Given the description of an element on the screen output the (x, y) to click on. 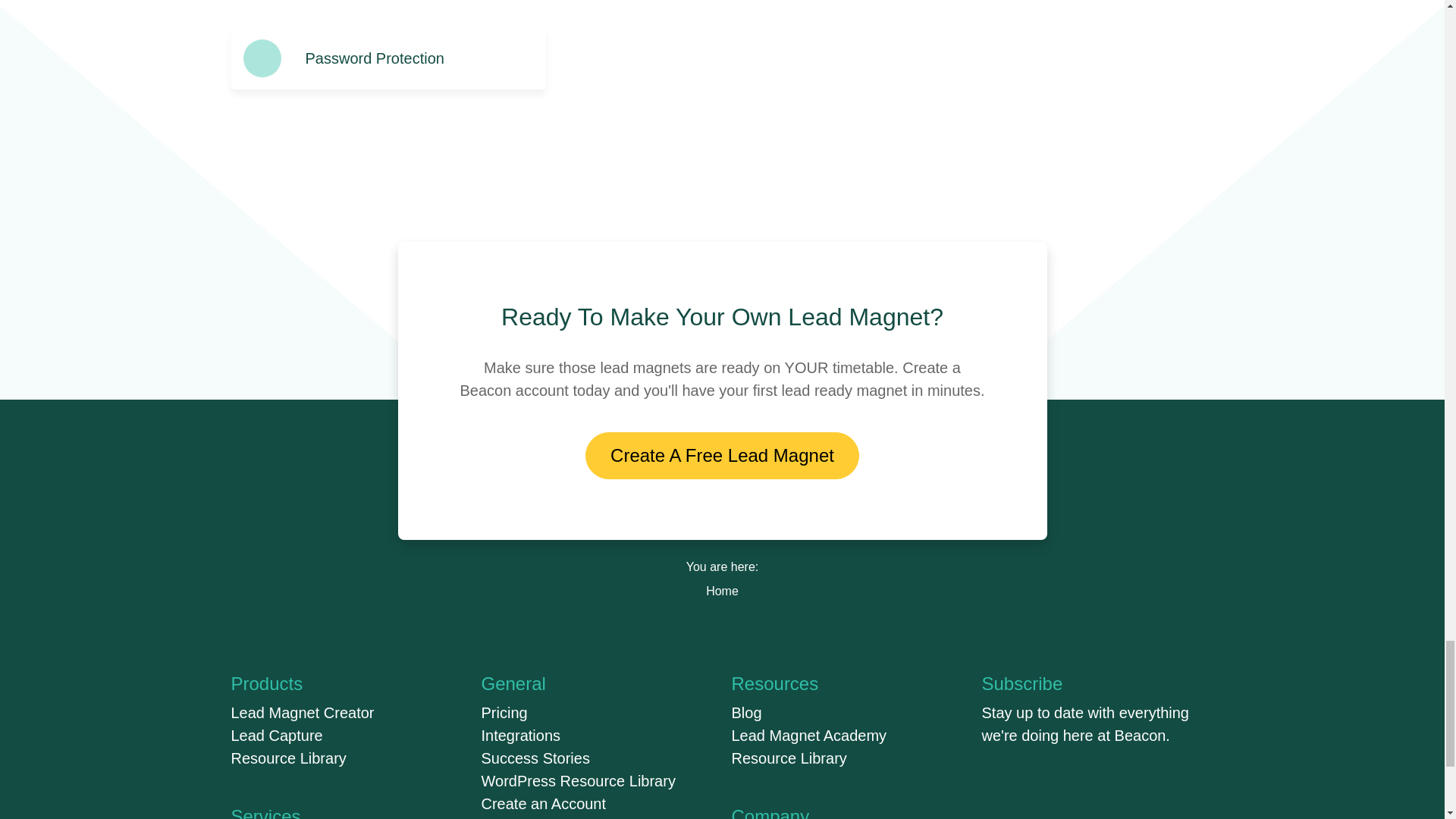
Create an Account (542, 803)
Integrations (520, 735)
Lead Capture (275, 735)
Resource Library (787, 758)
WordPress Resource Library (577, 781)
Lead Magnet Academy (808, 735)
Resource Library (288, 758)
Lead Magnet Creator (302, 712)
Pricing (503, 712)
Blog (745, 712)
